Given the description of an element on the screen output the (x, y) to click on. 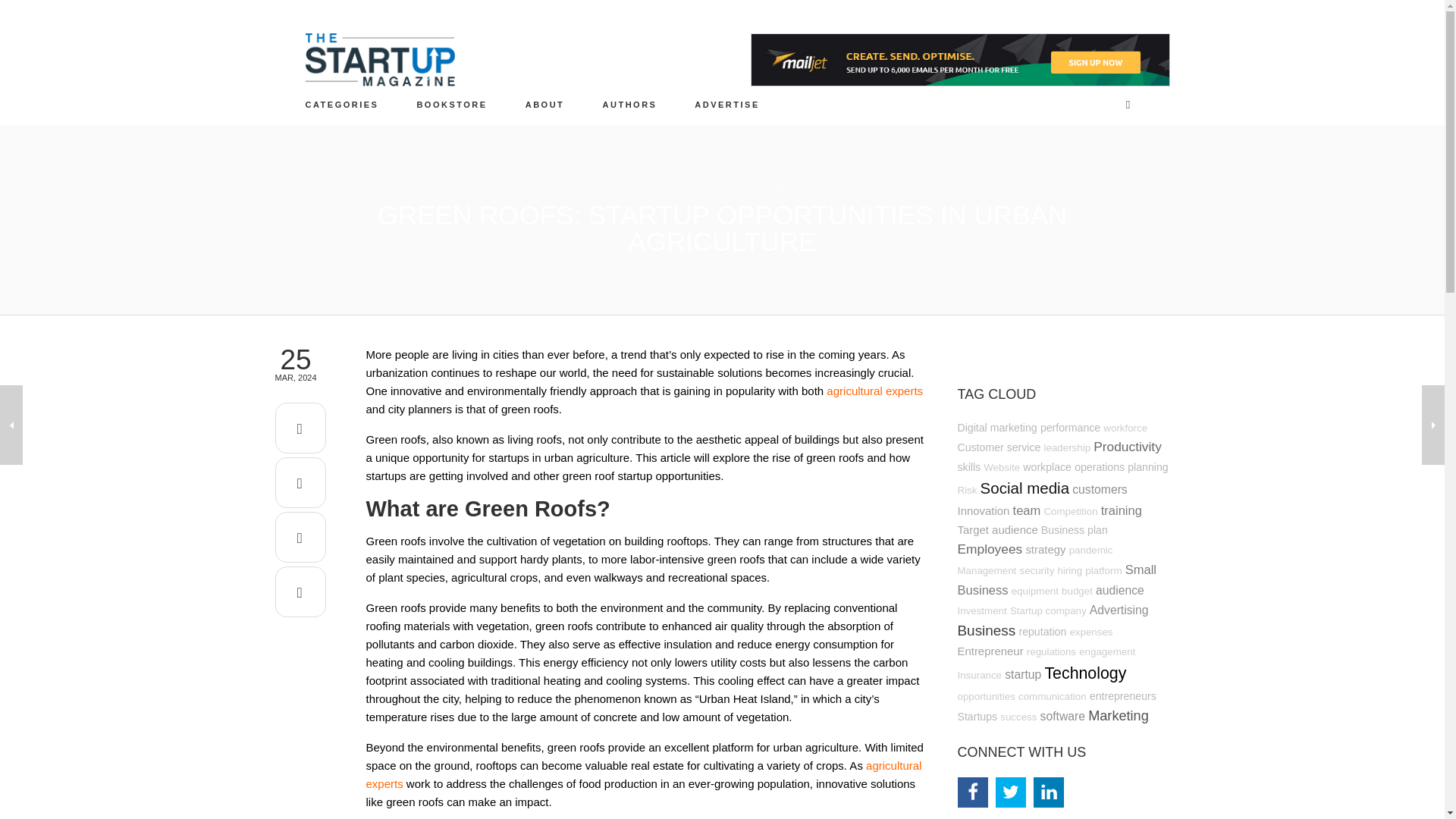
ADVERTISE (727, 103)
196 topics (1146, 467)
BOOKSTORE (451, 103)
194 topics (998, 447)
AUTHORS (630, 103)
222 topics (1070, 427)
166 topics (1002, 467)
Categories (341, 103)
392 topics (1127, 446)
153 topics (1125, 428)
Welcome to The Startup Magazine (544, 103)
CATEGORIES (341, 103)
197 topics (1099, 467)
205 topics (967, 467)
223 topics (1047, 467)
